Given the description of an element on the screen output the (x, y) to click on. 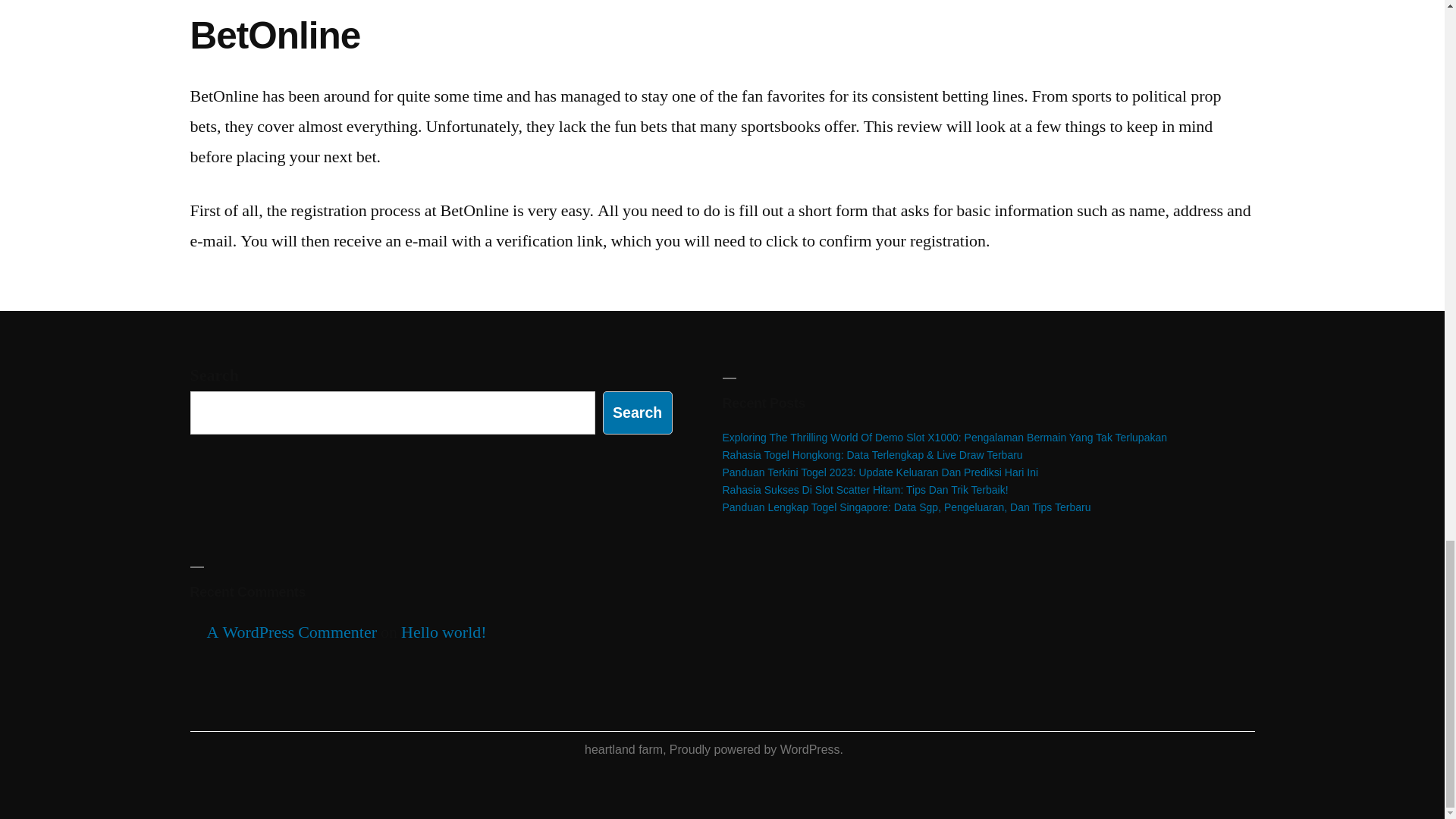
A WordPress Commenter (291, 631)
heartland farm (623, 748)
Proudly powered by WordPress. (756, 748)
Search (637, 412)
Rahasia Sukses Di Slot Scatter Hitam: Tips Dan Trik Terbaik! (864, 490)
Hello world! (443, 631)
